Given the description of an element on the screen output the (x, y) to click on. 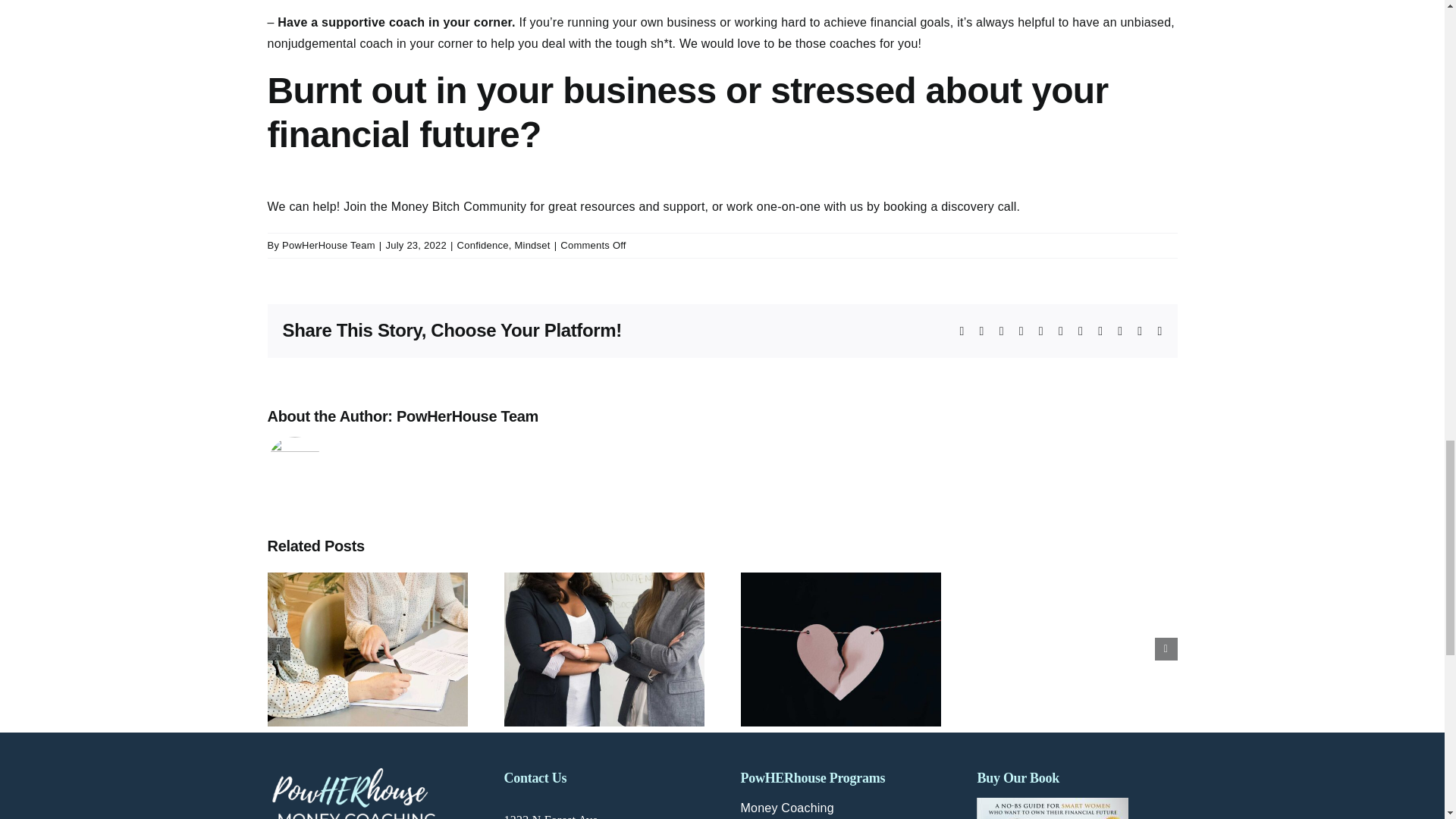
Posts by PowHerHouse Team (467, 416)
Posts by PowHerHouse Team (328, 244)
